Given the description of an element on the screen output the (x, y) to click on. 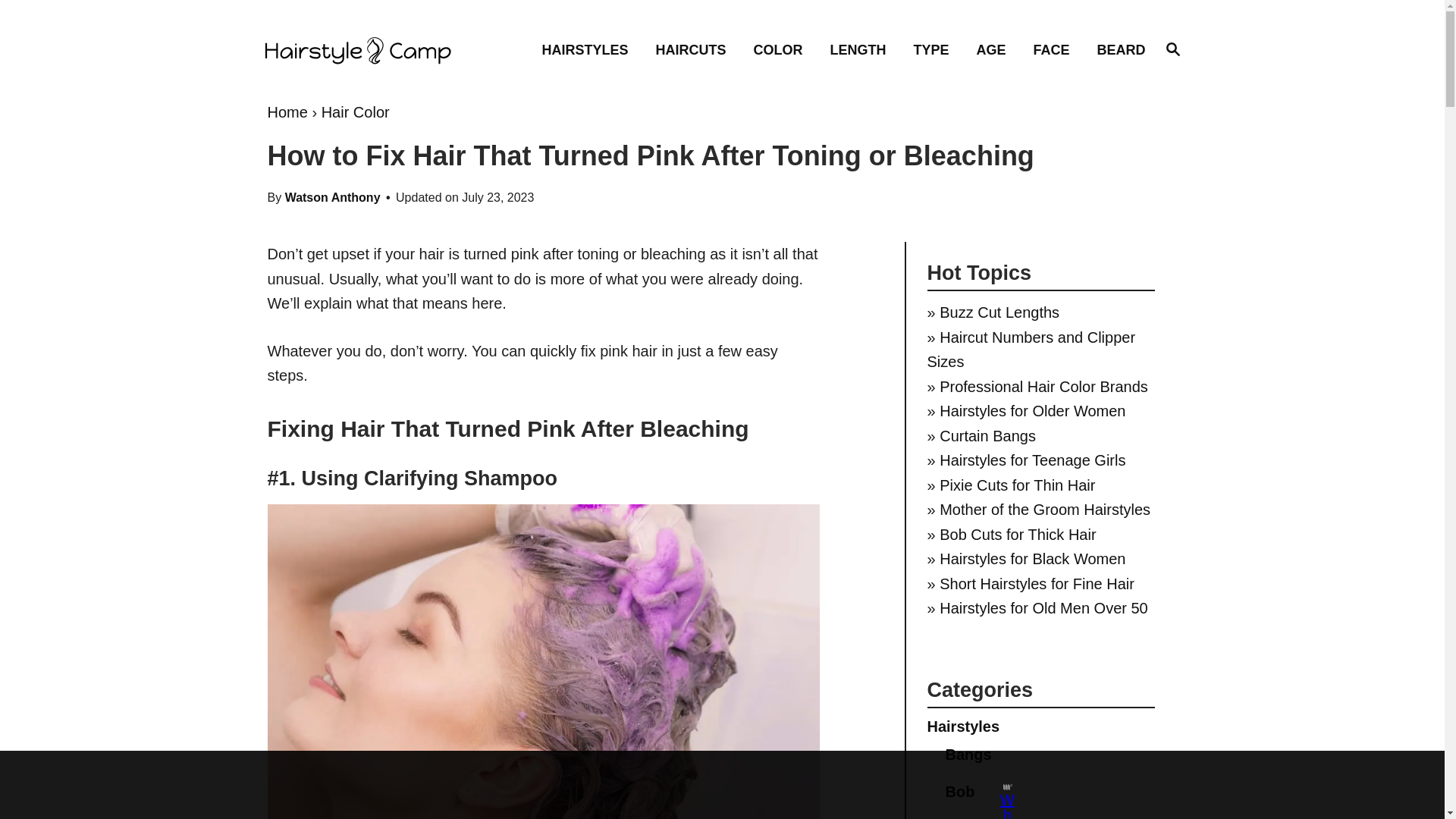
HAIRCUTS (695, 49)
COLOR (1171, 49)
Hairstyle Camp (782, 49)
HAIRSTYLES (371, 50)
Magnifying Glass (589, 49)
3rd party ad content (1171, 48)
